Given the description of an element on the screen output the (x, y) to click on. 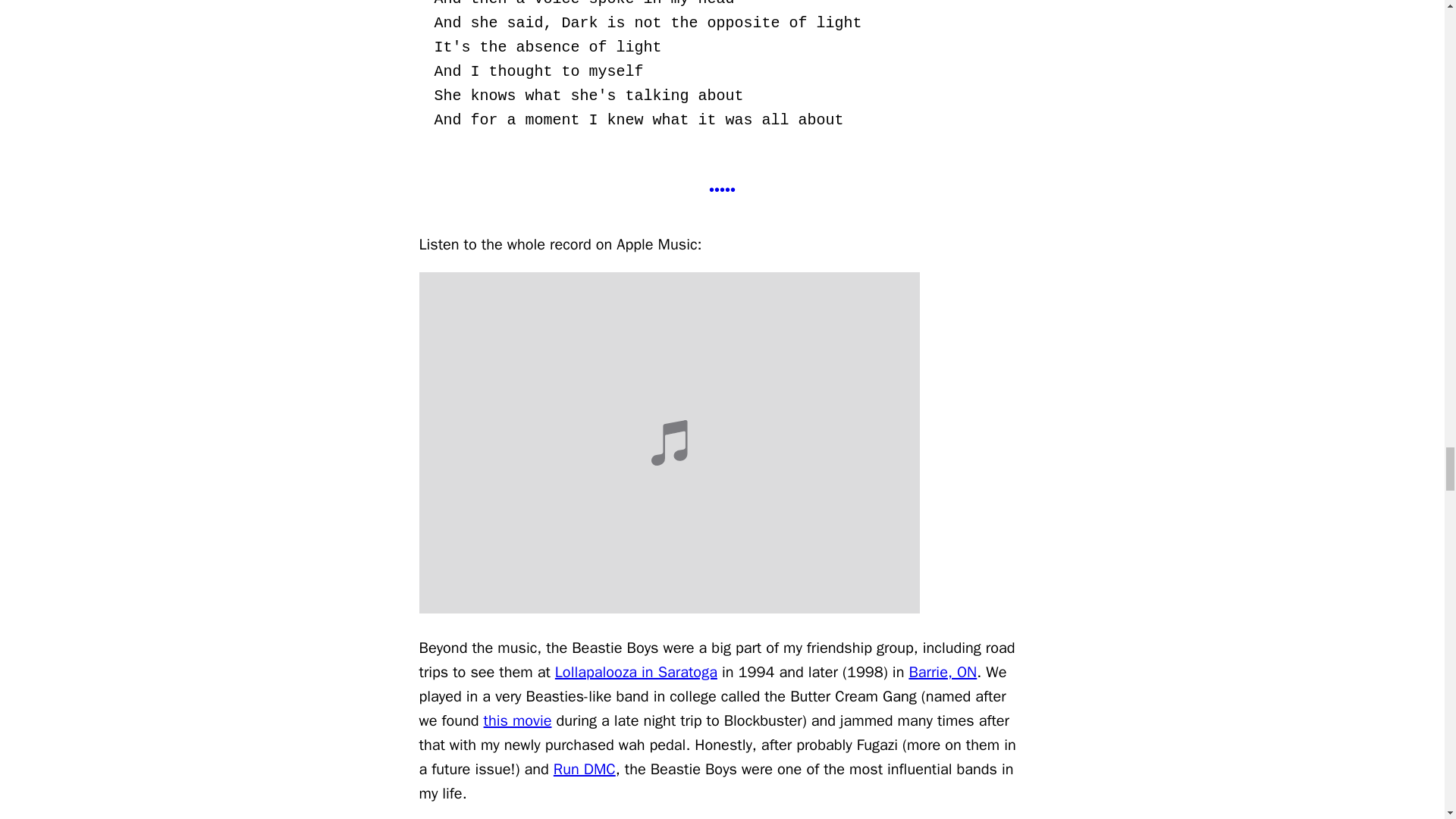
Run DMC (584, 769)
this movie (517, 720)
